Given the description of an element on the screen output the (x, y) to click on. 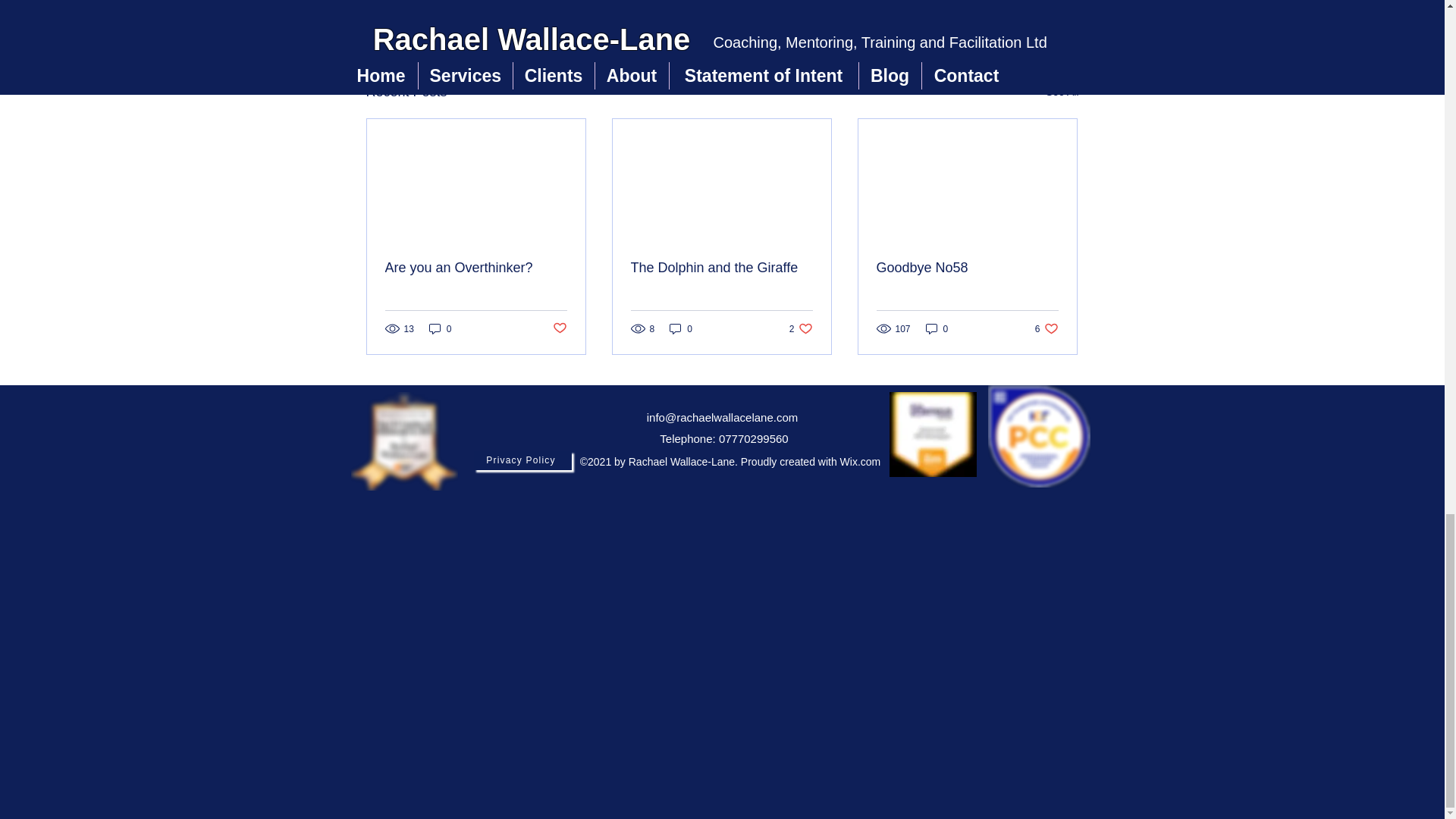
Post not marked as liked (558, 328)
Goodbye No58 (990, 9)
Are you an Overthinker? (967, 268)
0 (476, 268)
0 (681, 328)
See All (440, 328)
The Dolphin and the Giraffe (1061, 92)
Award.png (721, 268)
0 (1046, 328)
Privacy Policy (800, 328)
